Given the description of an element on the screen output the (x, y) to click on. 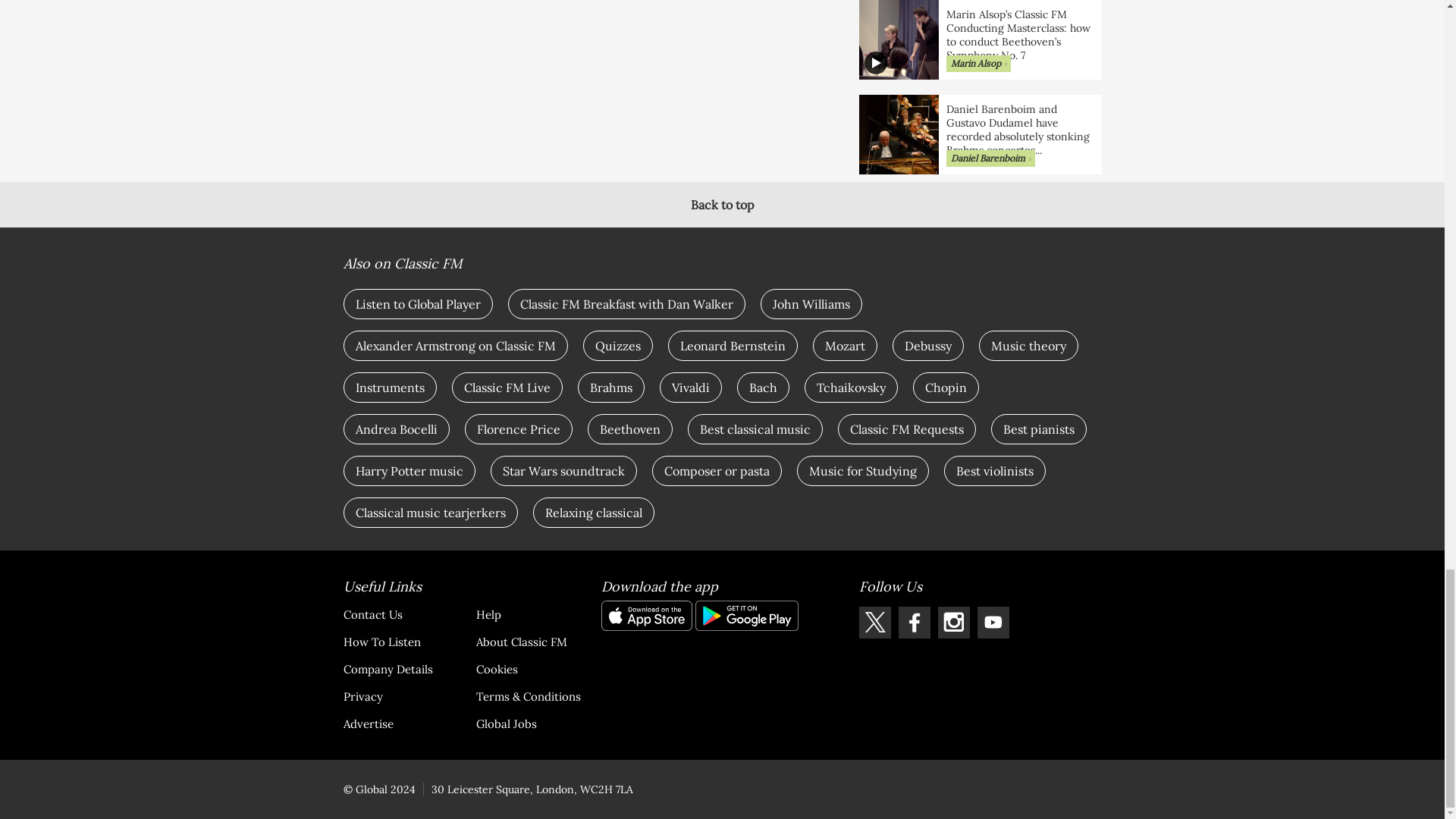
Follow Classic FM on Instagram (953, 622)
Back to top (722, 204)
Follow Classic FM on Youtube (992, 622)
Follow Classic FM on X (874, 622)
Follow Classic FM on Facebook (914, 622)
